Given the description of an element on the screen output the (x, y) to click on. 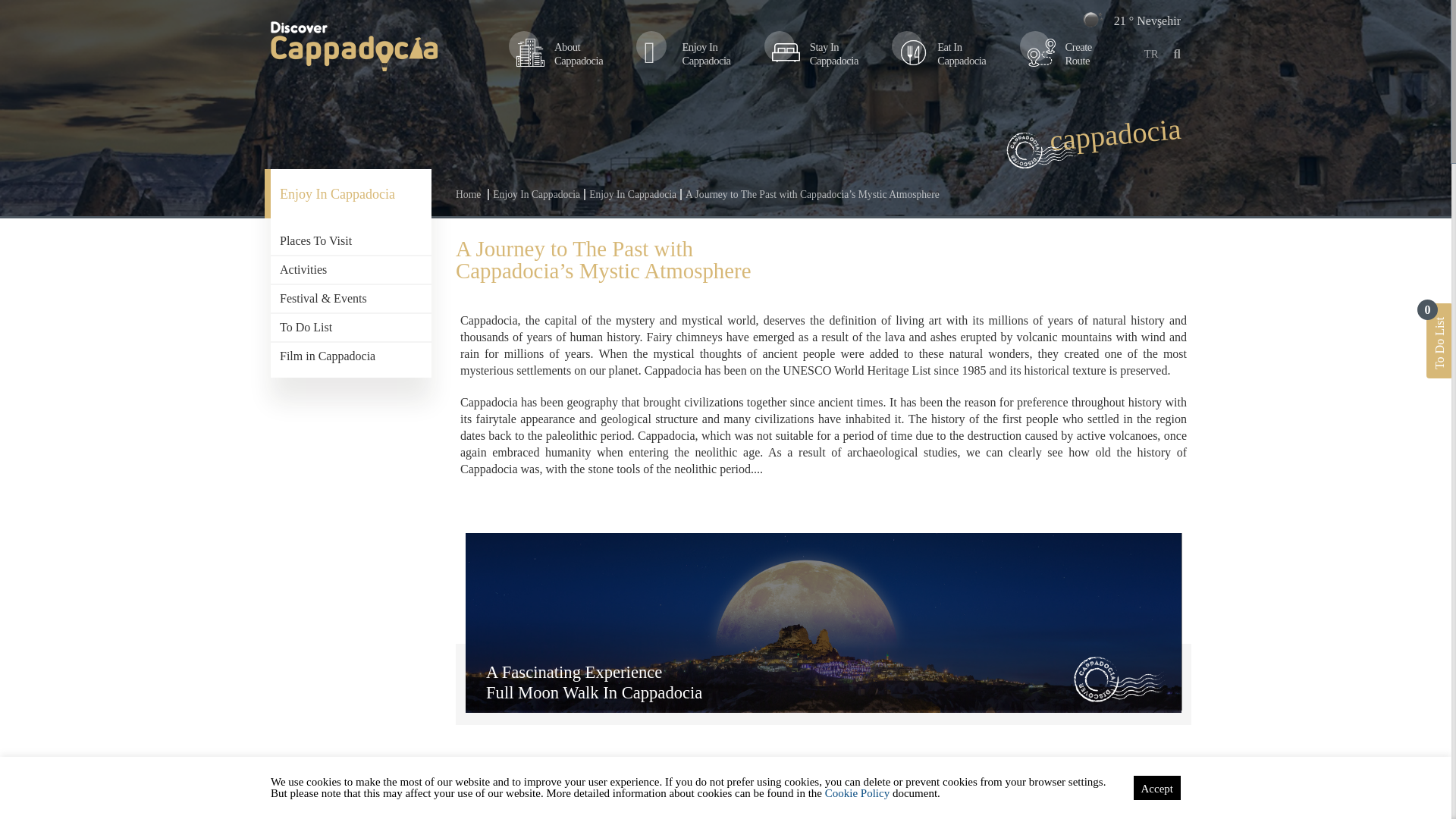
Enjoy In Cappadocia (350, 193)
TR (1151, 53)
Enjoy In Cappadocia (631, 194)
Home (1058, 53)
Enjoy In Cappadocia (559, 53)
Film in Cappadocia (815, 53)
To Do List (469, 194)
Activities (686, 53)
Places To Visit (535, 194)
